Given the description of an element on the screen output the (x, y) to click on. 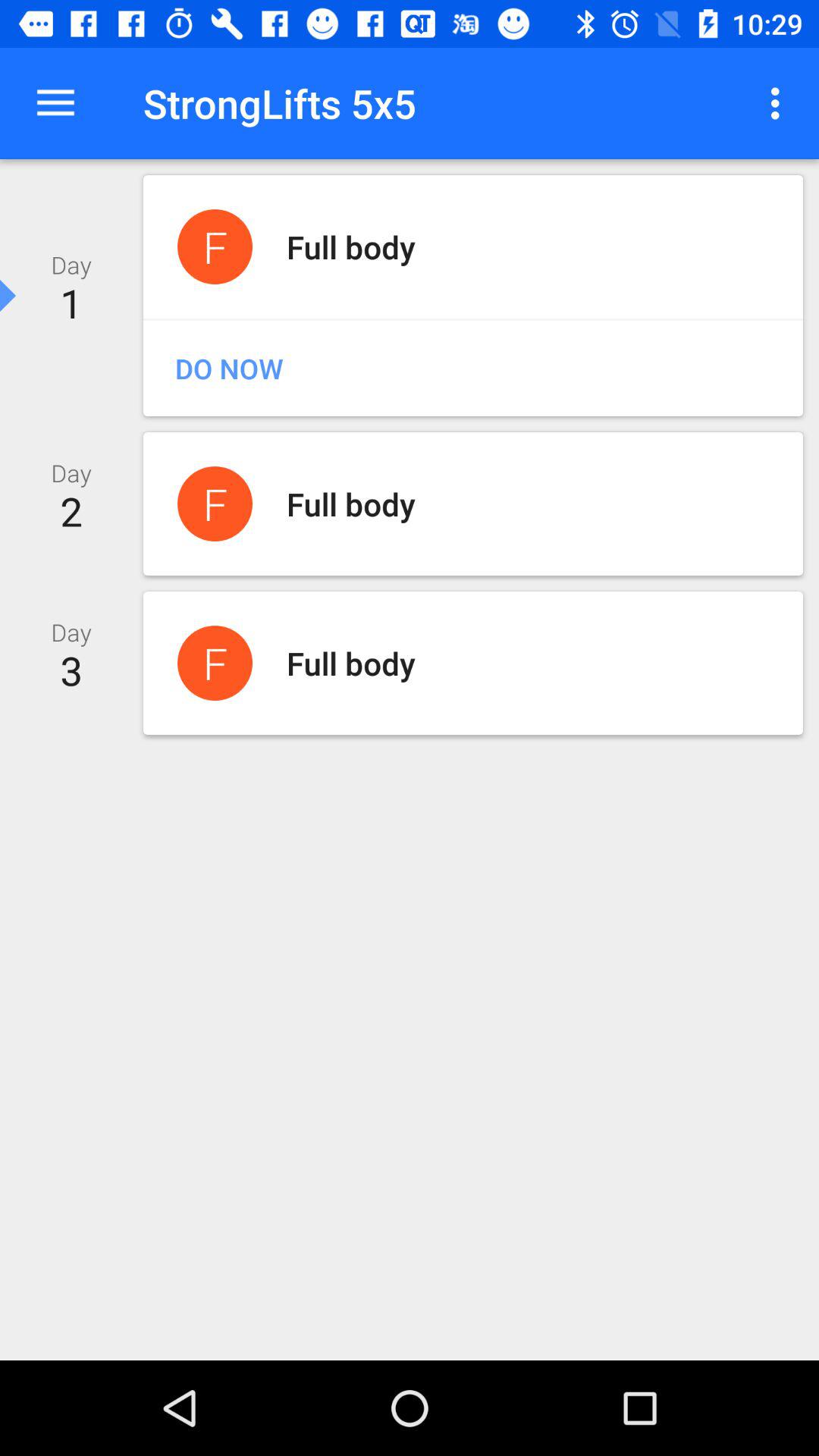
open item at the top right corner (779, 103)
